Given the description of an element on the screen output the (x, y) to click on. 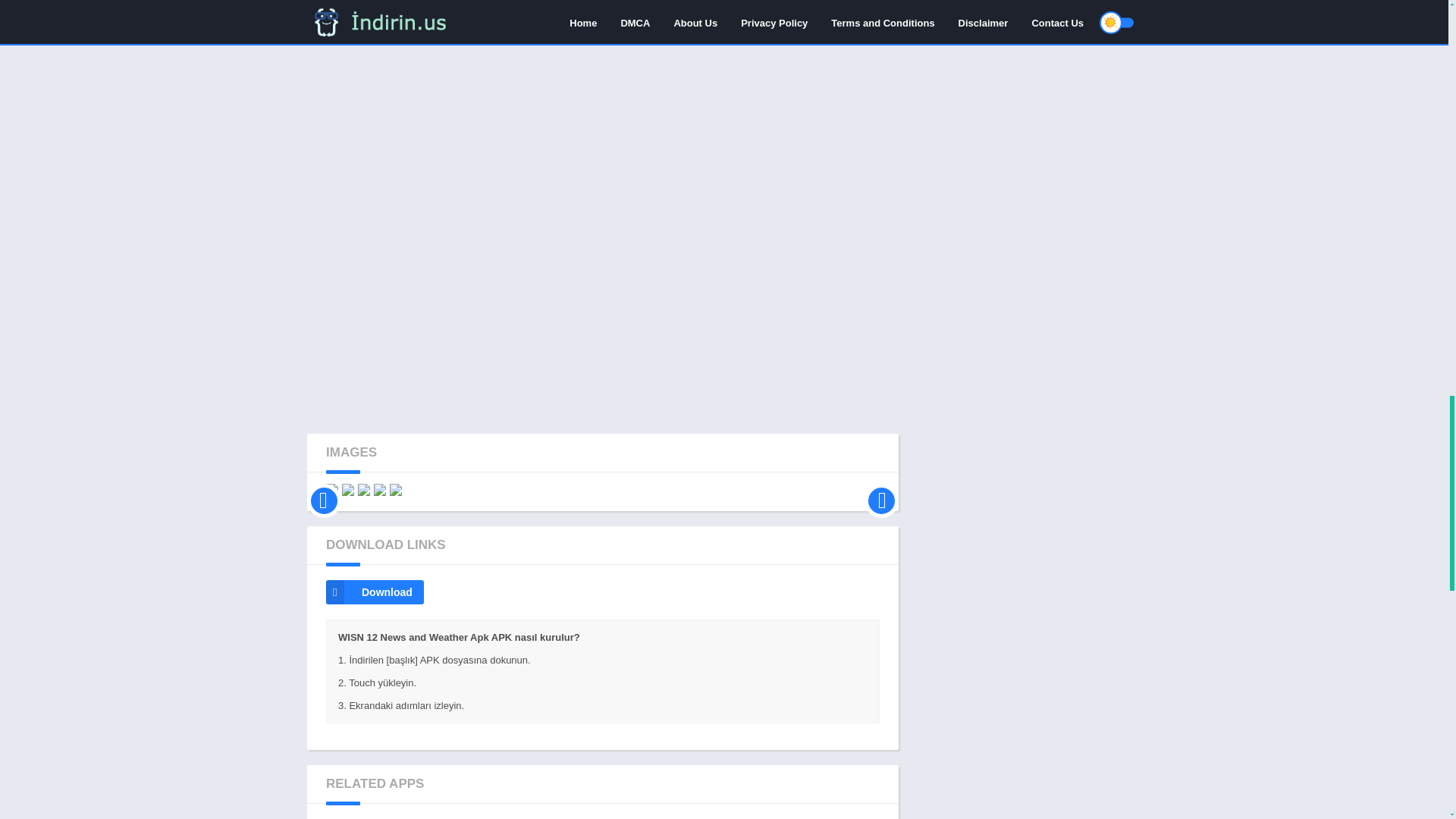
Download (374, 591)
